Given the description of an element on the screen output the (x, y) to click on. 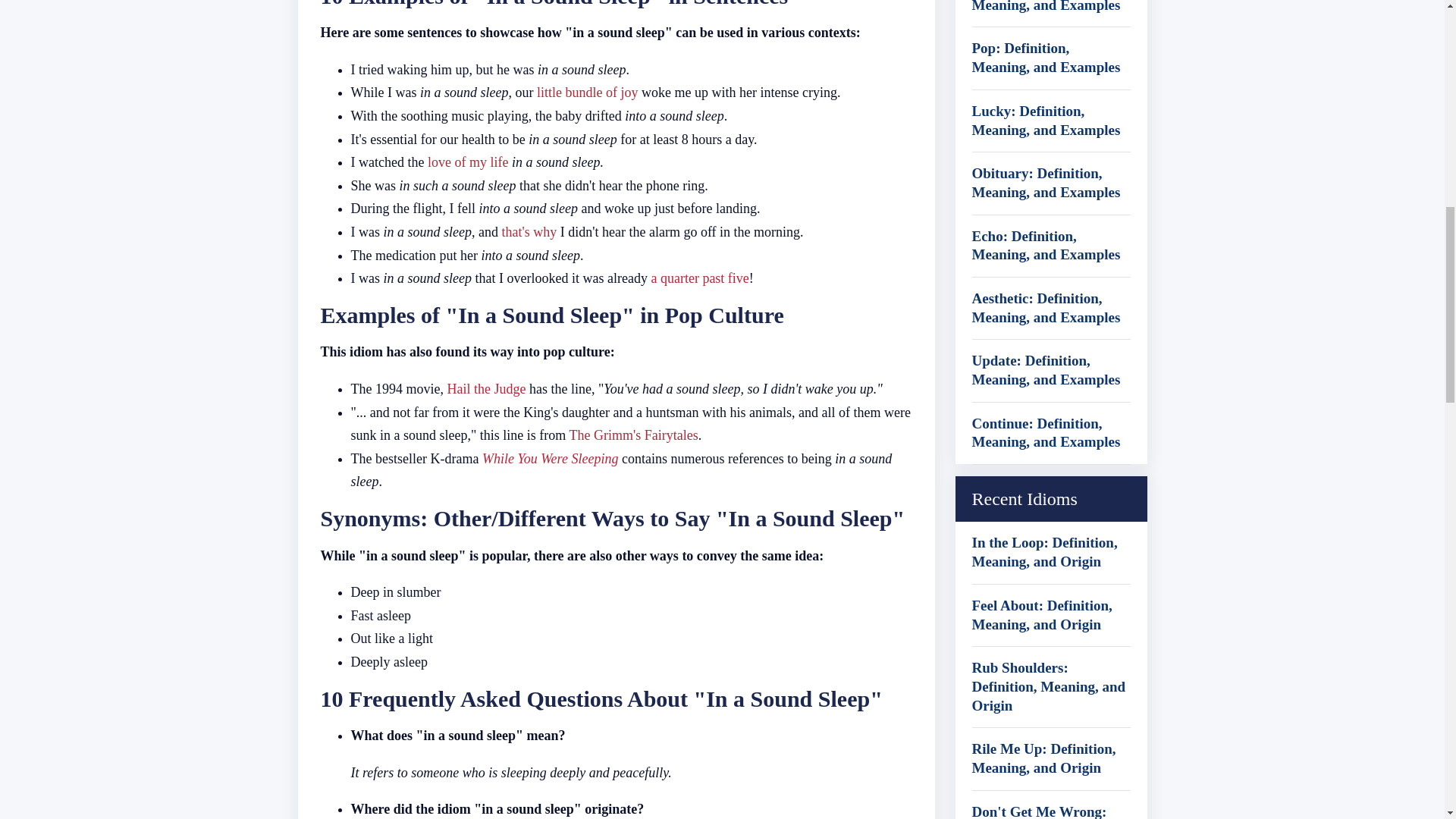
While You Were Sleeping (549, 458)
Hail the Judge (485, 388)
little bundle of joy (587, 92)
that's why (529, 231)
love of my life (468, 161)
a quarter past five (699, 278)
The Grimm's Fairytales (633, 435)
